Given the description of an element on the screen output the (x, y) to click on. 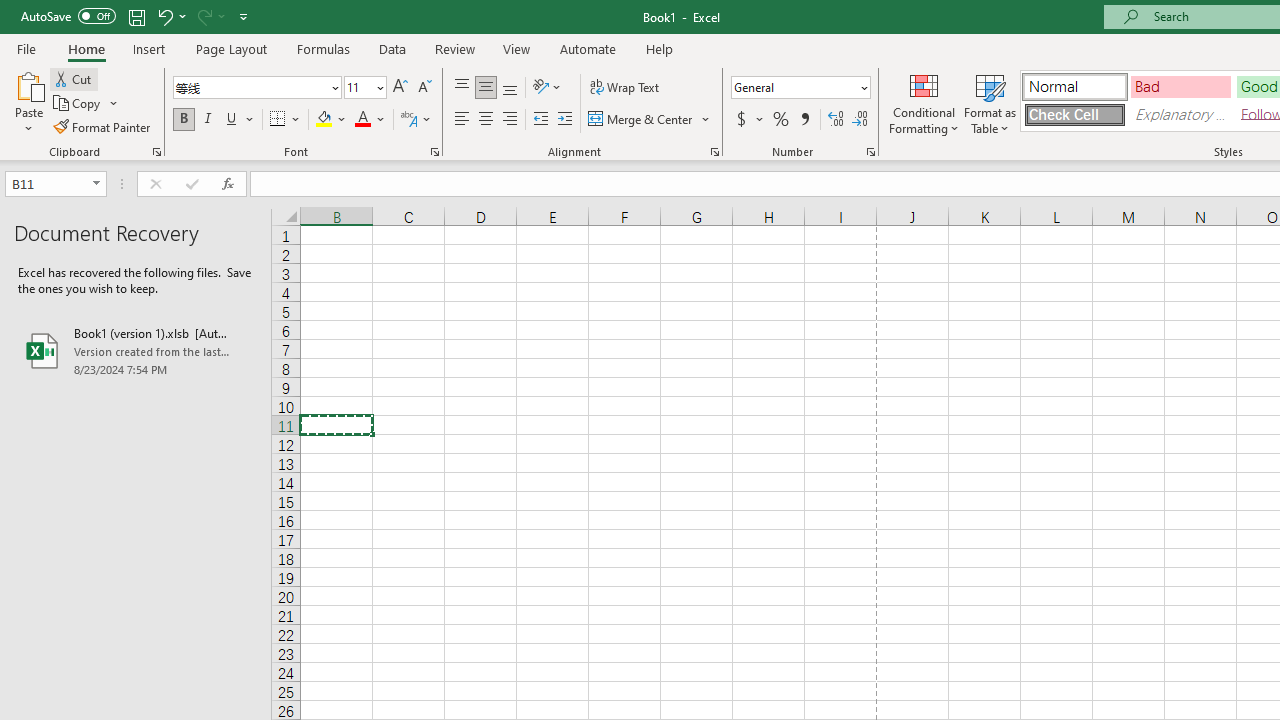
Wrap Text (624, 87)
Middle Align (485, 87)
Decrease Indent (540, 119)
Increase Decimal (836, 119)
Font (256, 87)
Percent Style (781, 119)
Font (250, 87)
Top Align (461, 87)
Show Phonetic Field (416, 119)
Check Cell (1074, 114)
